Given the description of an element on the screen output the (x, y) to click on. 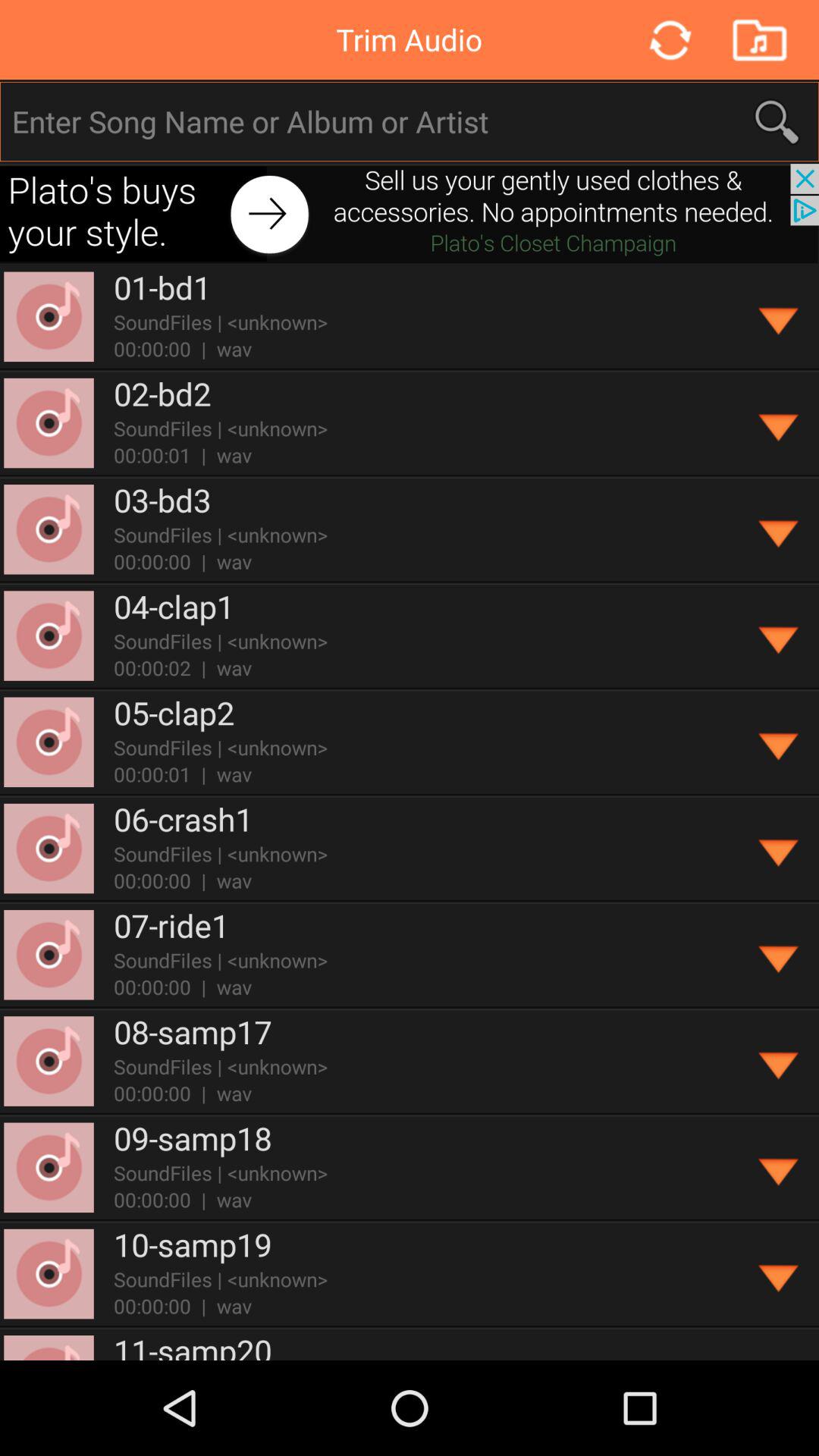
get more information on the song (779, 742)
